Given the description of an element on the screen output the (x, y) to click on. 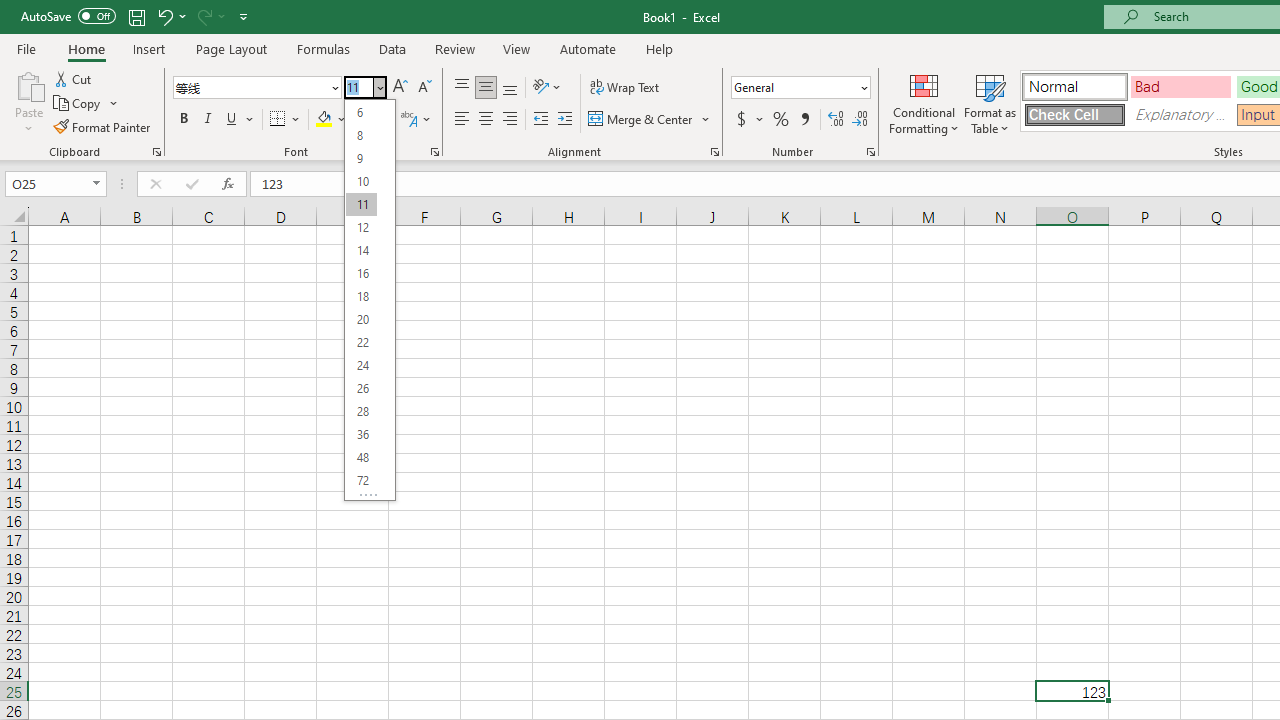
Align Left (461, 119)
Font Color RGB(255, 0, 0) (362, 119)
11 (361, 204)
Font Size (369, 300)
Format Cell Font (434, 151)
Percent Style (781, 119)
Fill Color (331, 119)
Paste (28, 84)
Copy (78, 103)
Show Phonetic Field (416, 119)
Orientation (547, 87)
Top Align (461, 87)
